Given the description of an element on the screen output the (x, y) to click on. 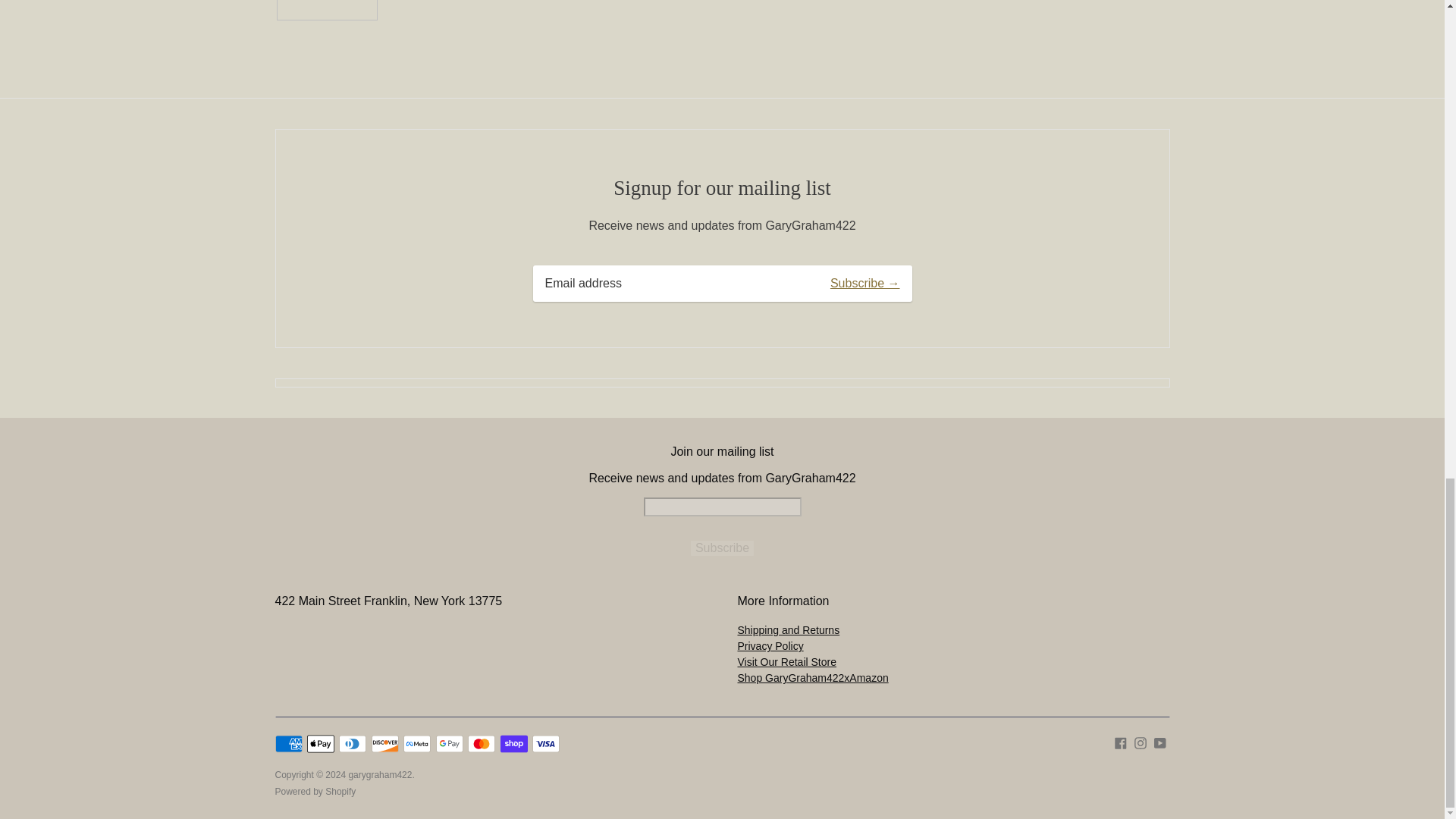
garygraham422 on Facebook (1120, 741)
American Express (288, 743)
Discover (384, 743)
Shop Pay (513, 743)
Apple Pay (320, 743)
Google Pay (449, 743)
garygraham422 on YouTube (1160, 741)
Visa (545, 743)
Mastercard (481, 743)
Subscribe (722, 548)
garygraham422 on Instagram (1140, 741)
Diners Club (352, 743)
Meta Pay (416, 743)
